Given the description of an element on the screen output the (x, y) to click on. 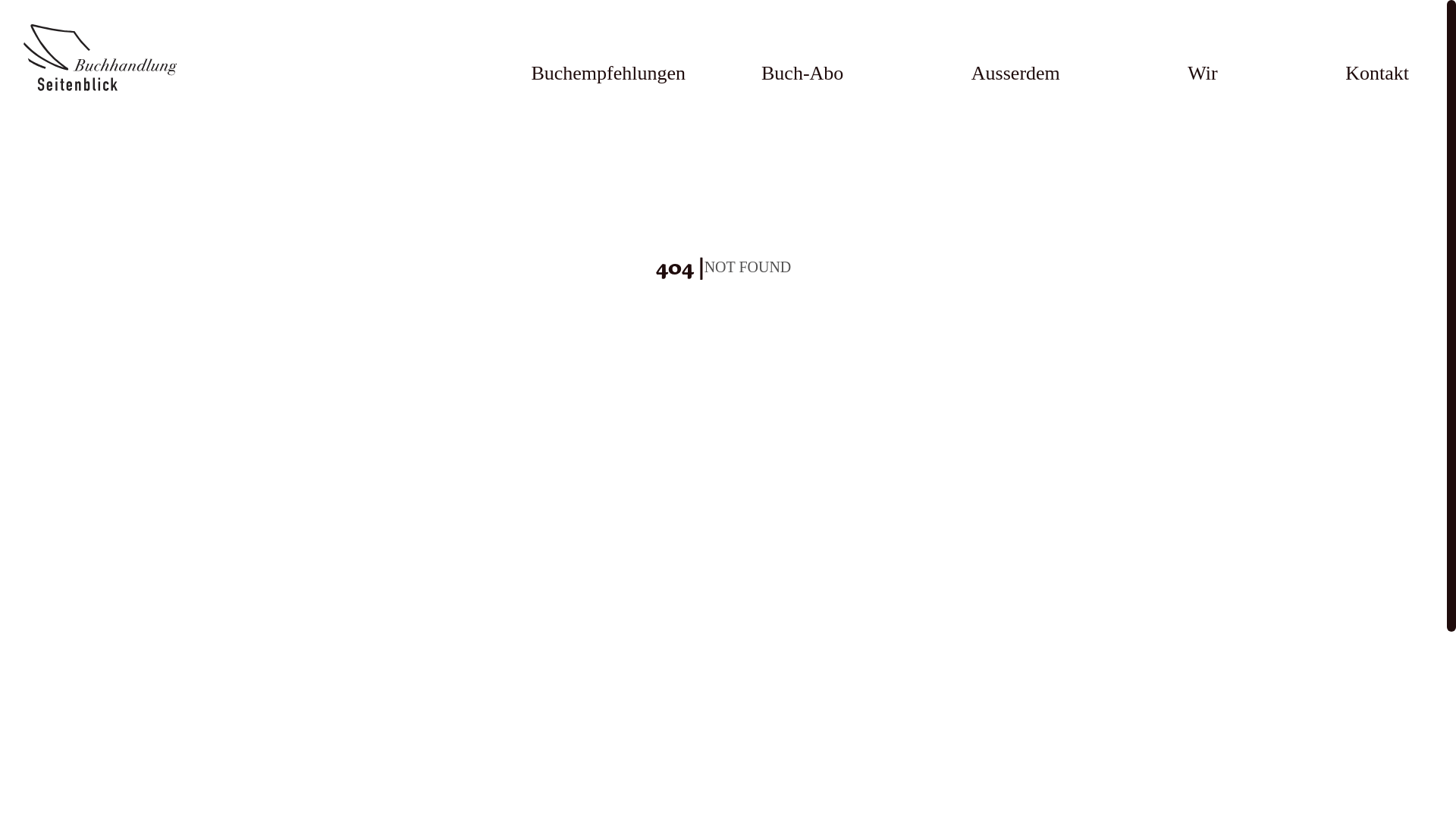
Kontakt Element type: text (1376, 73)
Buchempfehlungen Element type: text (607, 73)
Wir Element type: text (1202, 73)
Buch-Abo Element type: text (802, 73)
Ausserdem Element type: text (1015, 73)
image/svg+xml Element type: text (114, 60)
